Given the description of an element on the screen output the (x, y) to click on. 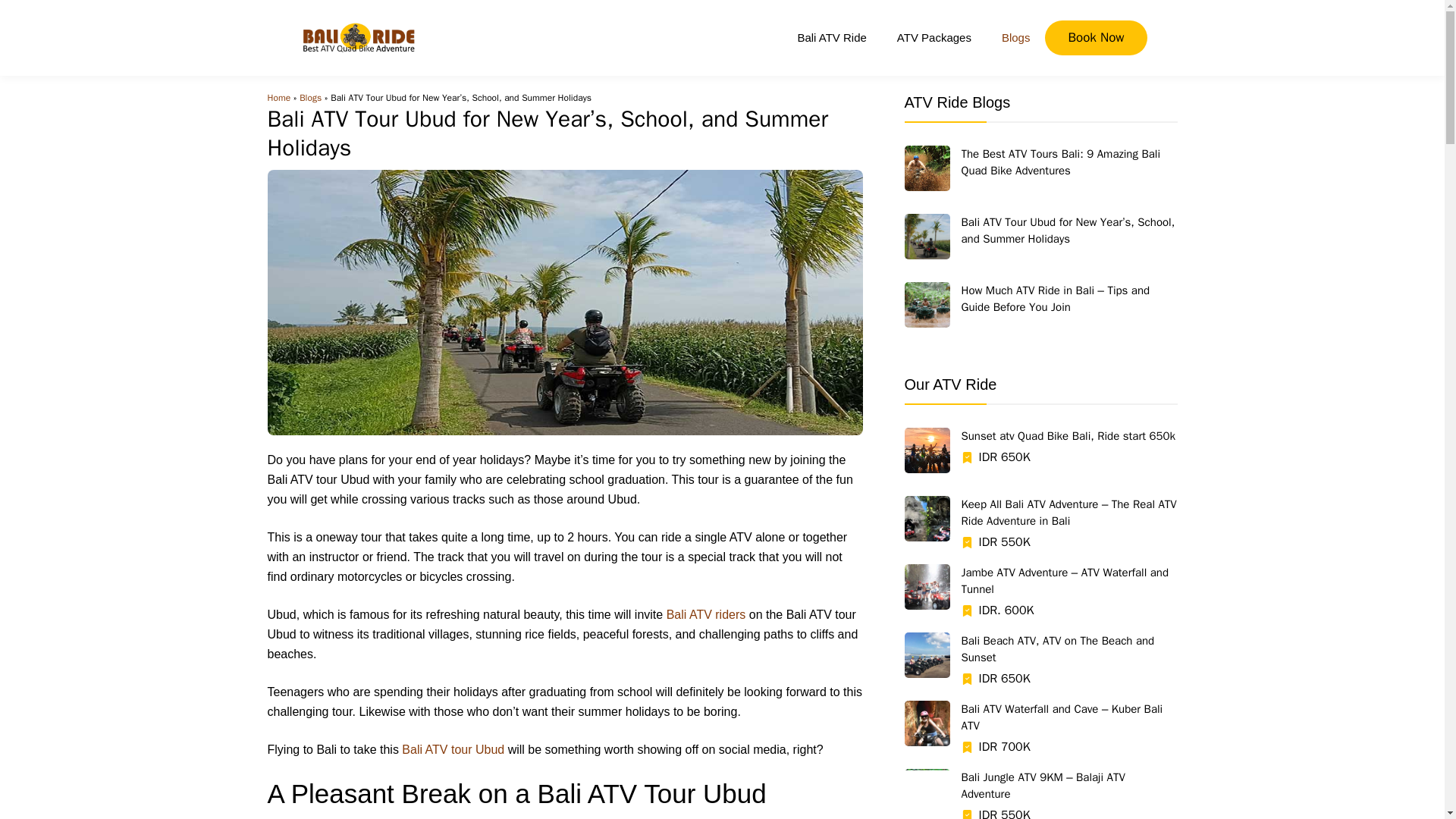
Home (277, 97)
Sunset atv Quad Bike Bali, Ride start 650k (1068, 436)
Bali ATV Ride (830, 37)
Blogs (1016, 37)
IDR 650K (1003, 457)
Bali ATV riders (705, 614)
Bali ATV tour Ubud (452, 748)
Blogs (310, 97)
Book Now (1096, 37)
ATV Packages (934, 37)
